Given the description of an element on the screen output the (x, y) to click on. 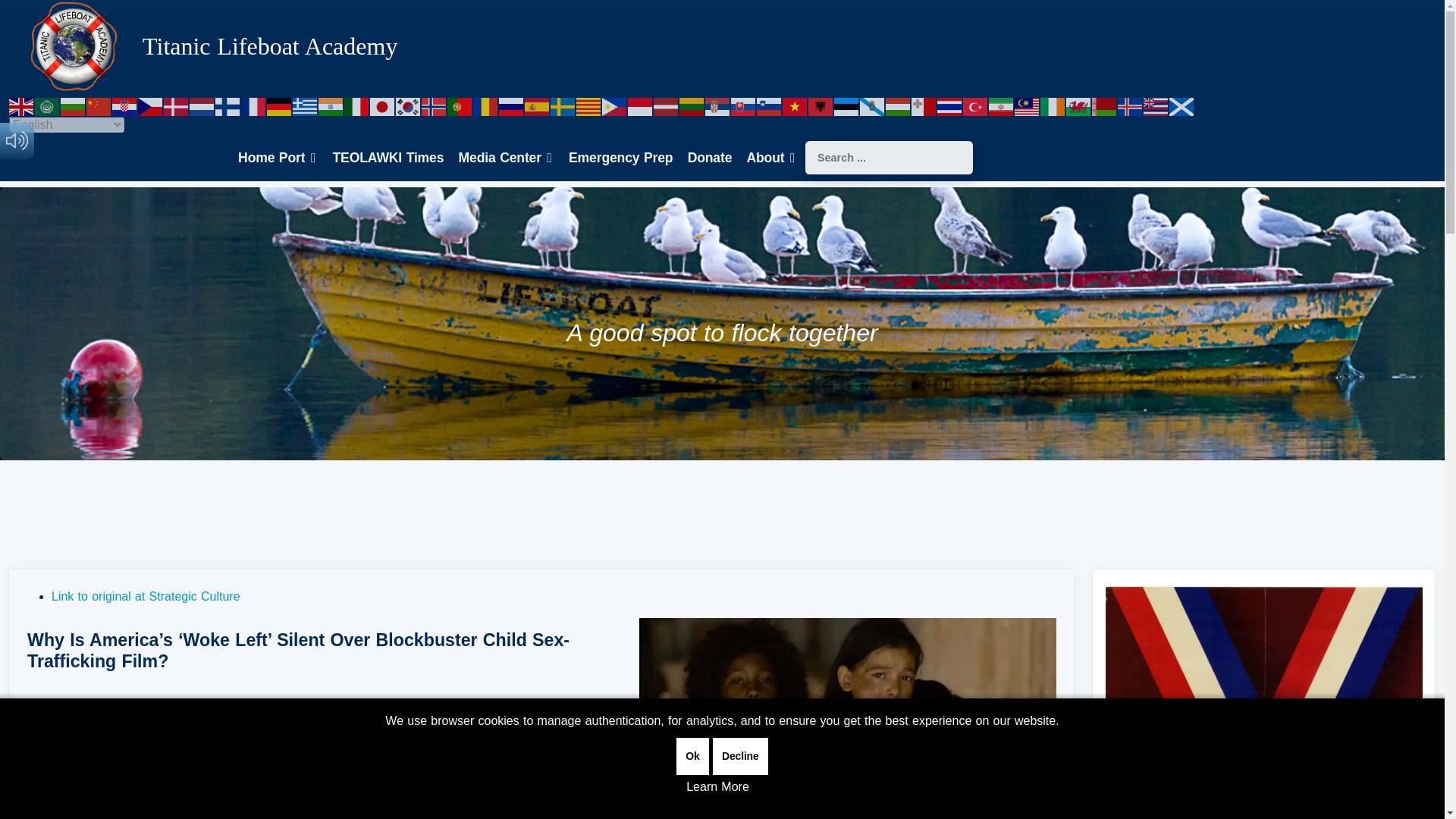
Titanic Lifeboat Academy (269, 45)
Italiano (356, 106)
Deutsch (279, 106)
Hrvatski (125, 106)
English (21, 106)
Dansk (176, 106)
Suomi (228, 106)
Nederlands (202, 106)
